Given the description of an element on the screen output the (x, y) to click on. 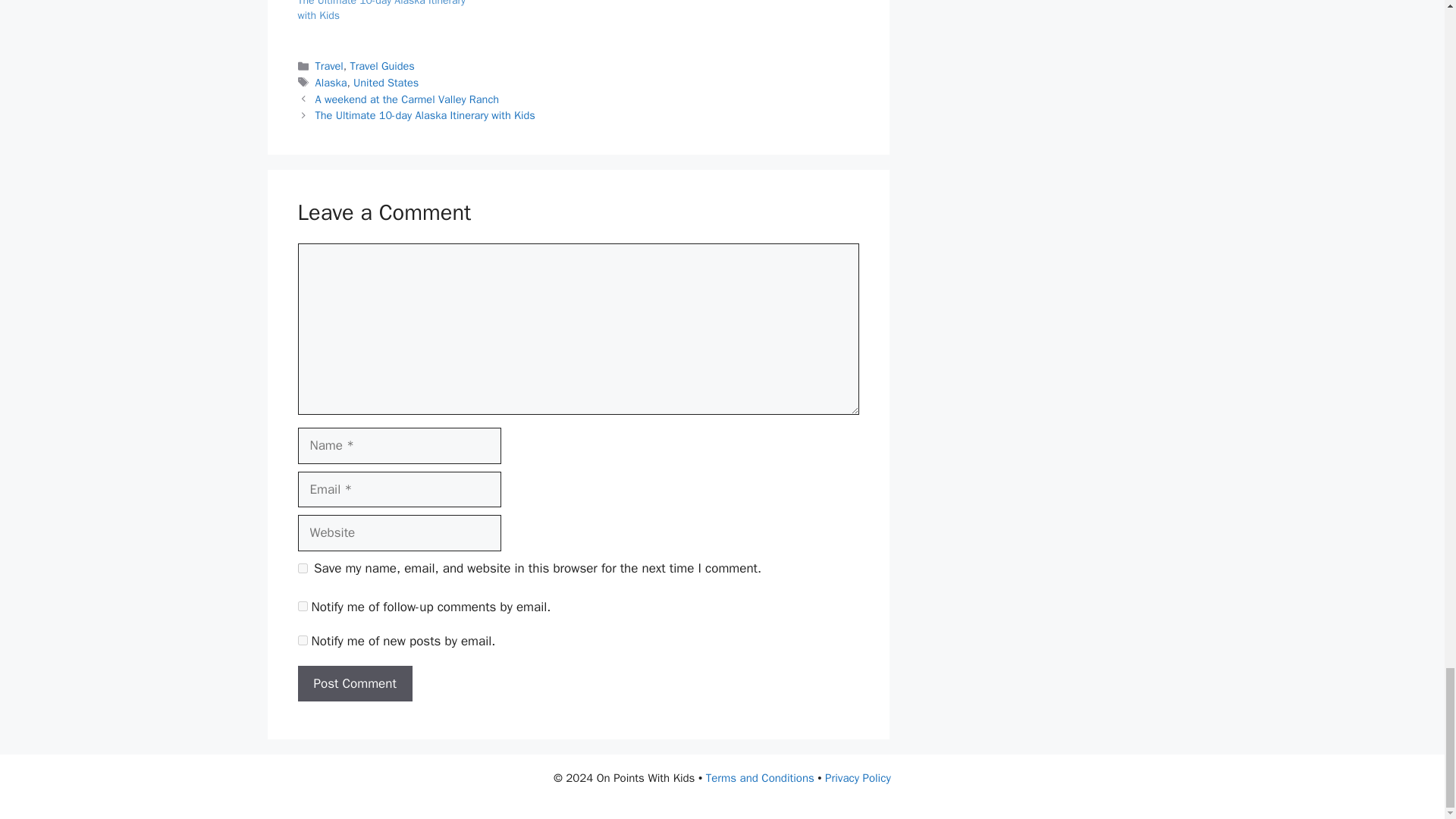
Travel (329, 65)
The Ultimate 10-day Alaska Itinerary with Kids (380, 11)
Post Comment (354, 683)
yes (302, 568)
Travel Guides (381, 65)
Post Comment (354, 683)
subscribe (302, 640)
Alaska (331, 82)
A weekend at the Carmel Valley Ranch (407, 99)
subscribe (302, 605)
United States (386, 82)
The Ultimate 10-day Alaska Itinerary with Kids (425, 115)
